Given the description of an element on the screen output the (x, y) to click on. 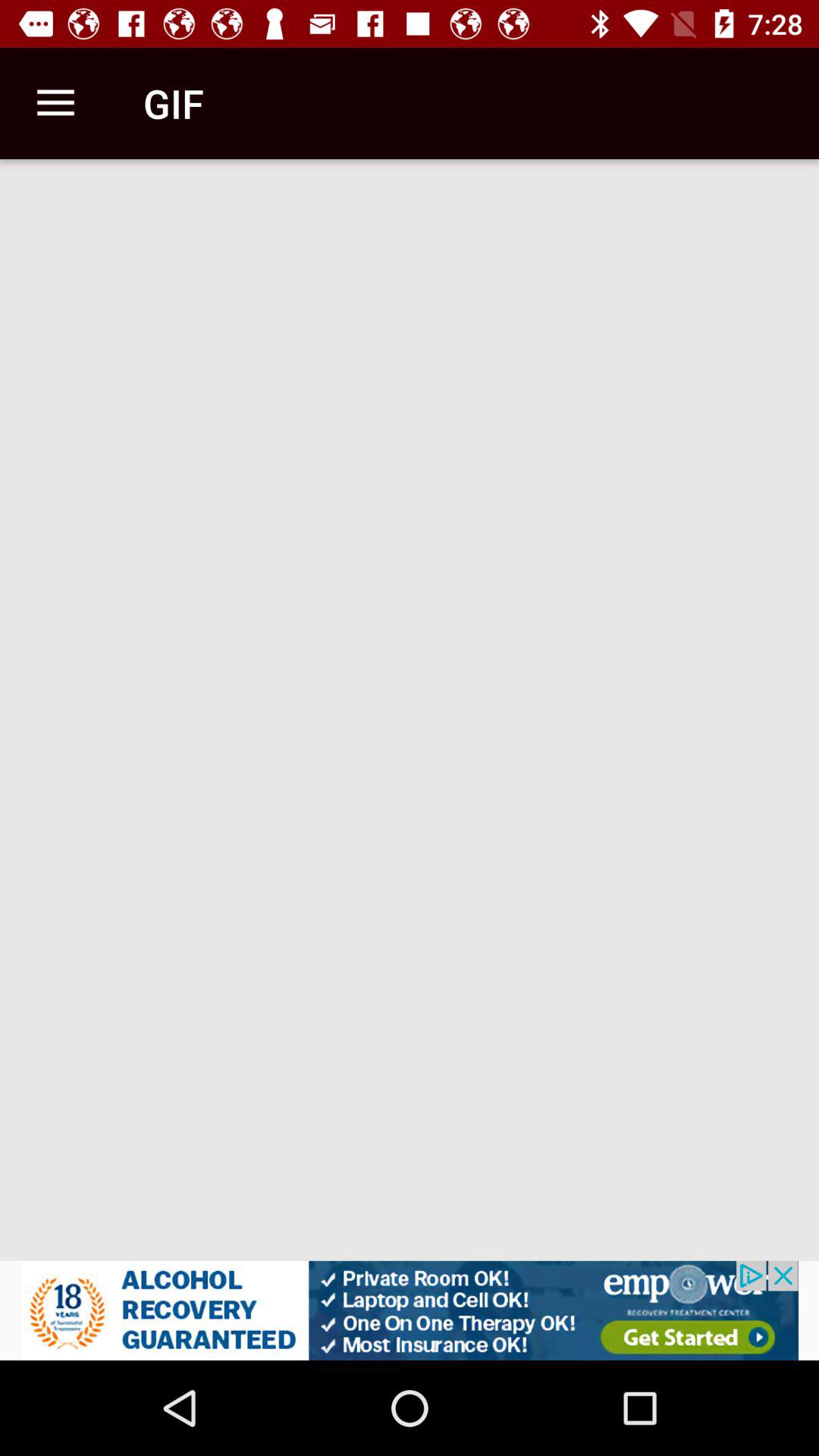
advertisement (409, 1310)
